Given the description of an element on the screen output the (x, y) to click on. 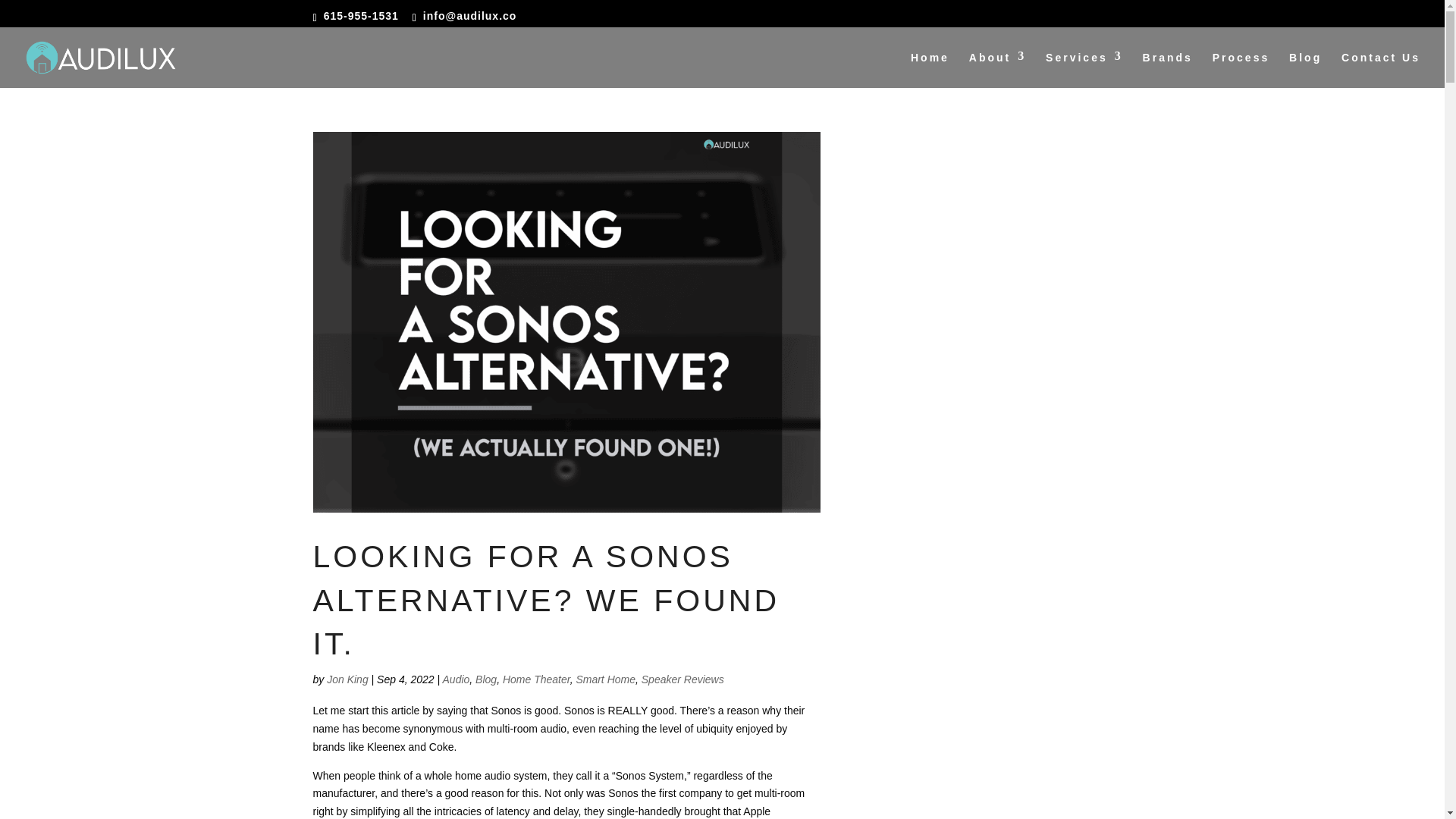
Posts by Jon King (347, 679)
Brands (1167, 69)
Contact Us (1380, 69)
whole home audio (468, 775)
Home Theater (536, 679)
Home (930, 69)
Blog (486, 679)
Process (1240, 69)
Jon King (347, 679)
About (997, 69)
